Given the description of an element on the screen output the (x, y) to click on. 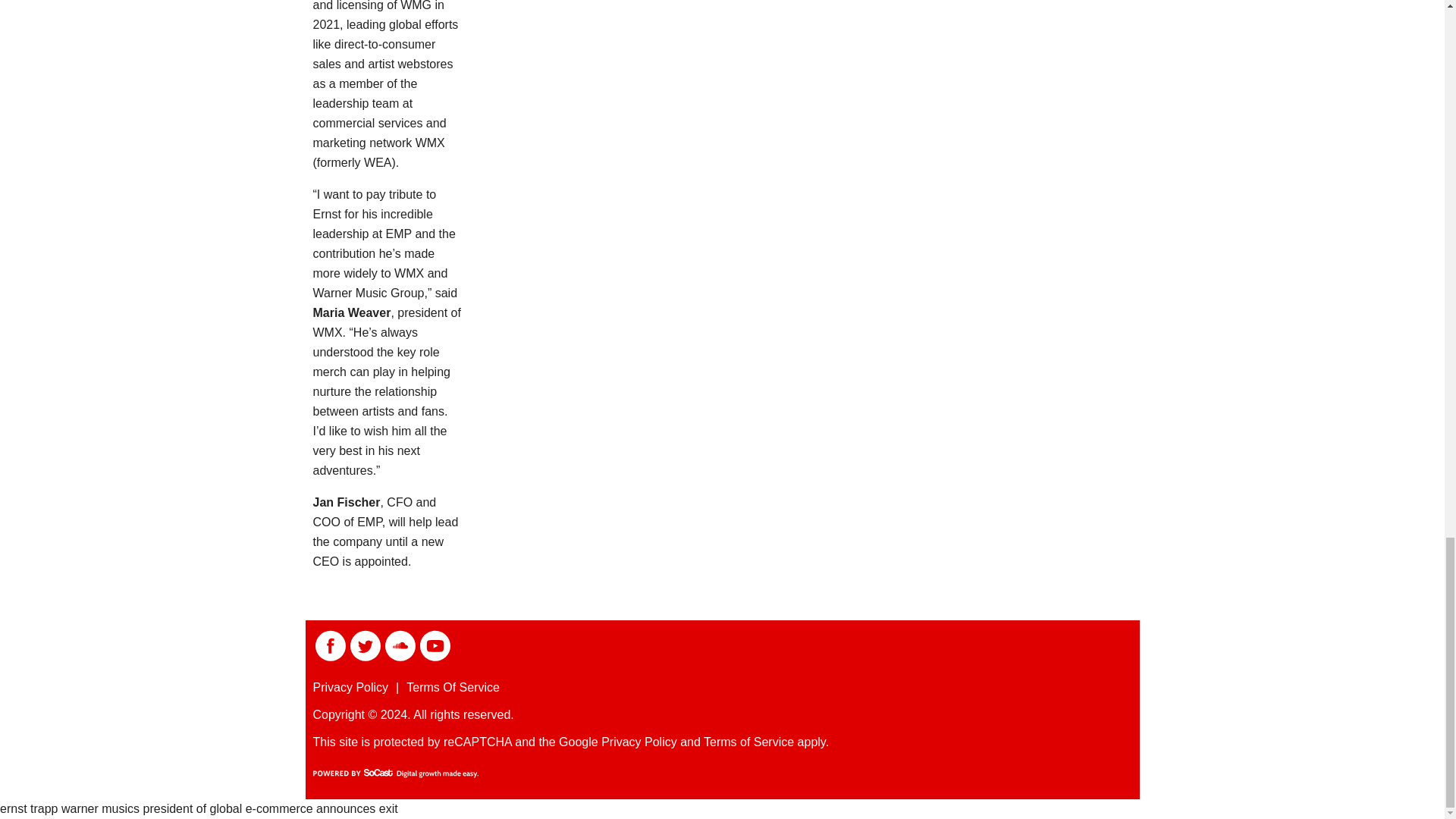
Powered By SoCast (395, 773)
